Given the description of an element on the screen output the (x, y) to click on. 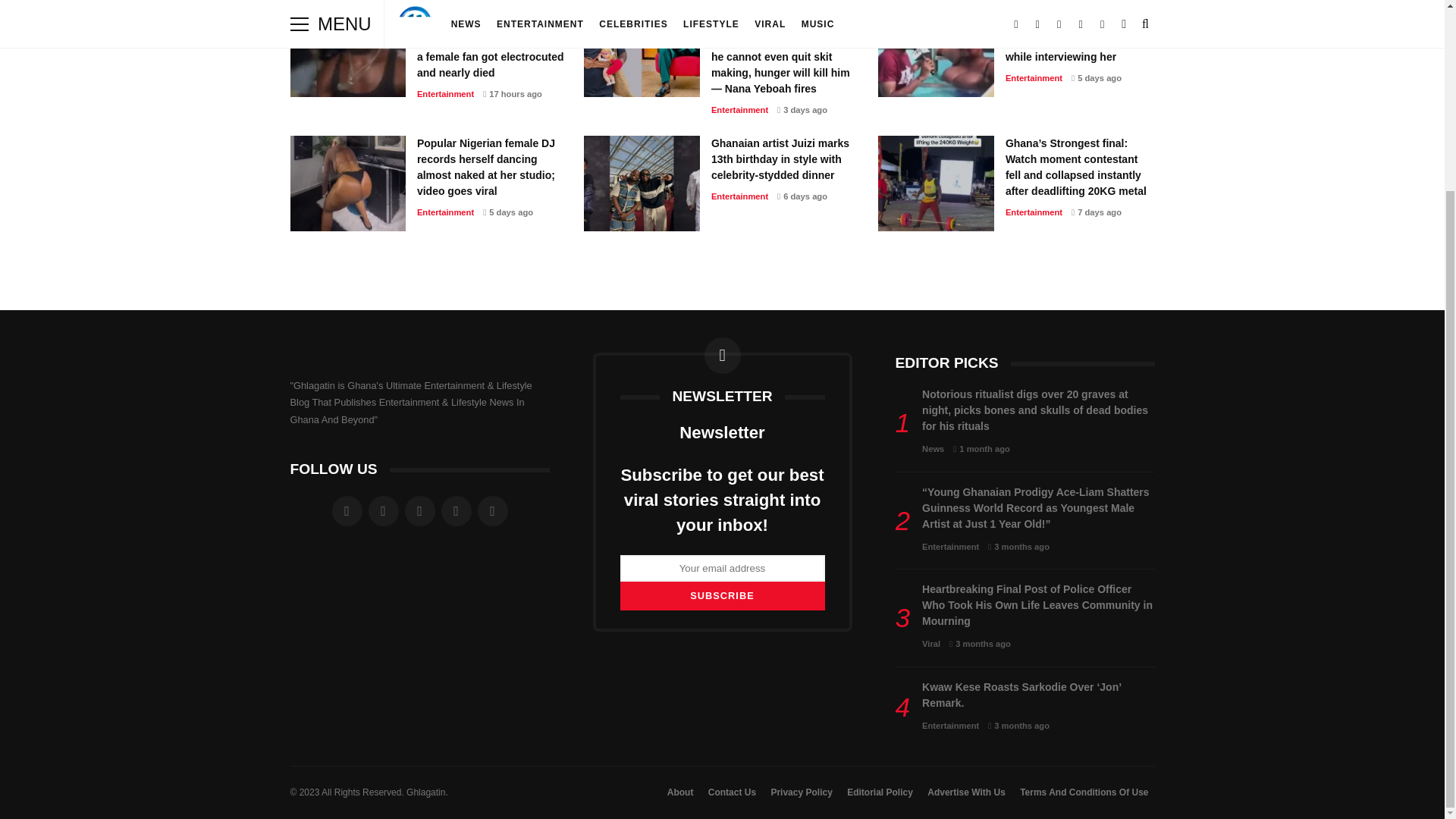
Entertainment (445, 93)
Entertainment (739, 109)
Subscribe (722, 595)
